Given the description of an element on the screen output the (x, y) to click on. 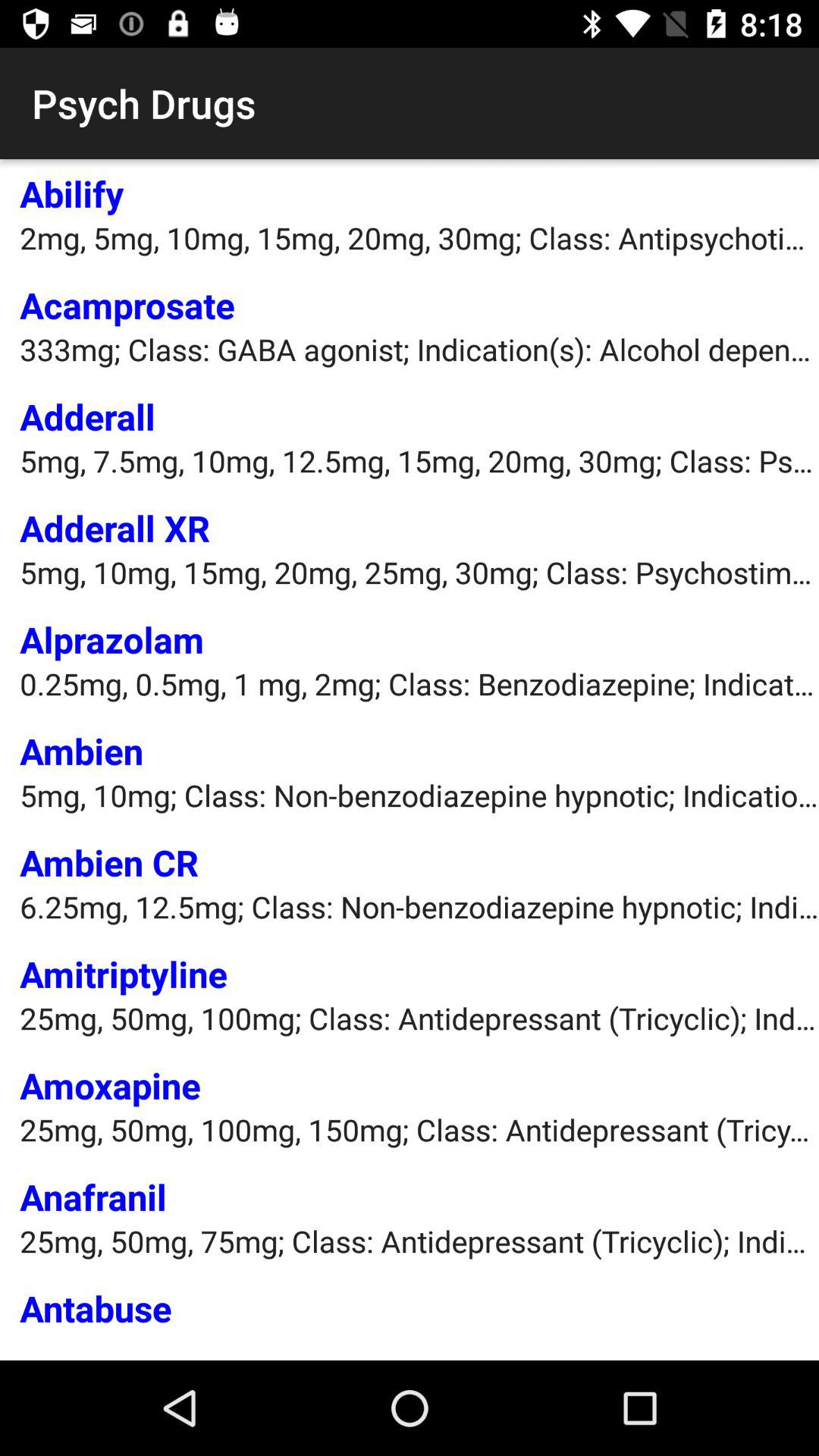
choose item below 25mg 50mg 100mg app (109, 1085)
